Given the description of an element on the screen output the (x, y) to click on. 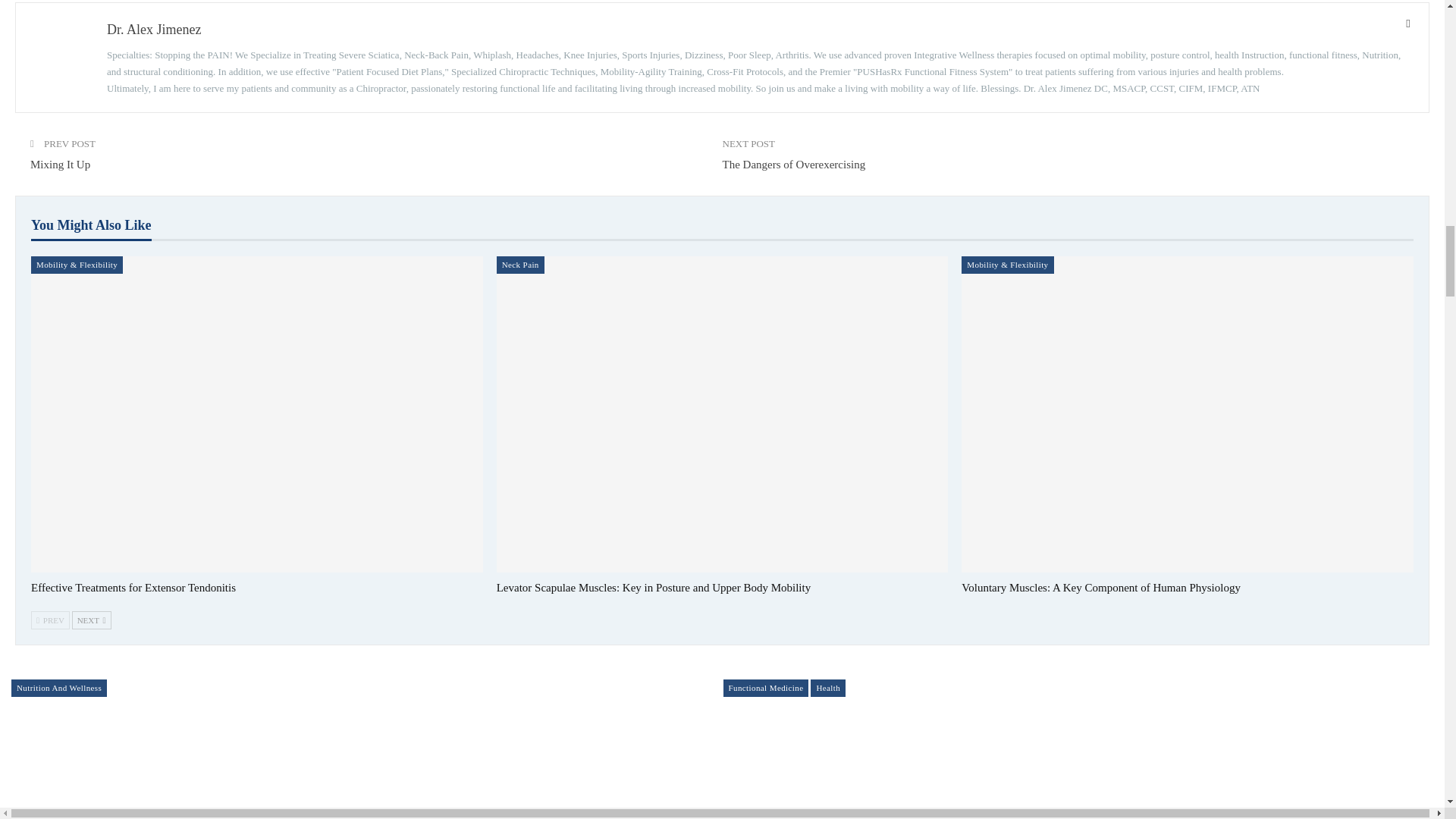
Effective Treatments for Extensor Tendonitis (132, 587)
Next (91, 619)
Voluntary Muscles: A Key Component of Human Physiology (1100, 587)
Previous (49, 619)
